Given the description of an element on the screen output the (x, y) to click on. 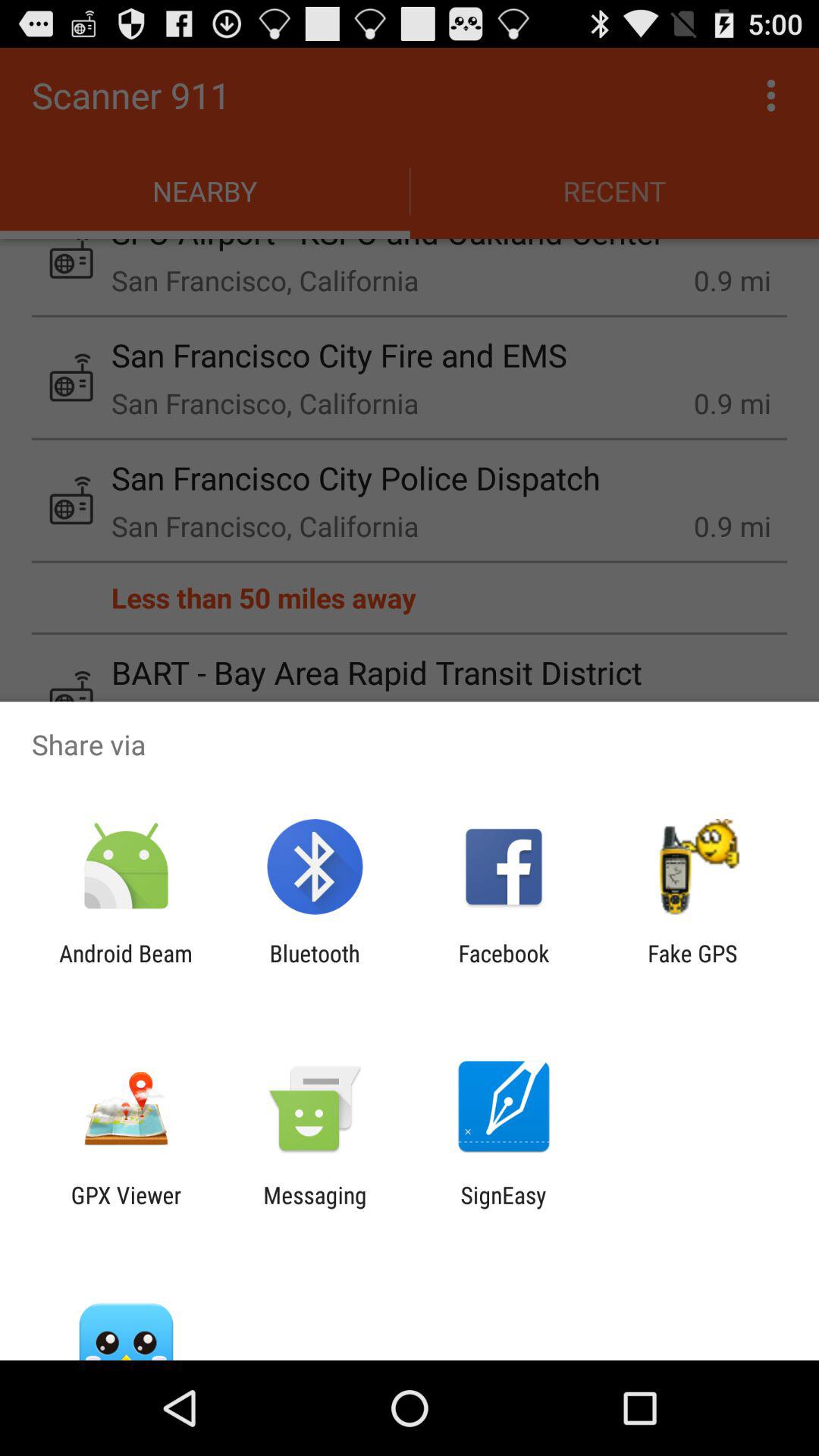
launch the item to the left of the messaging app (126, 1208)
